Given the description of an element on the screen output the (x, y) to click on. 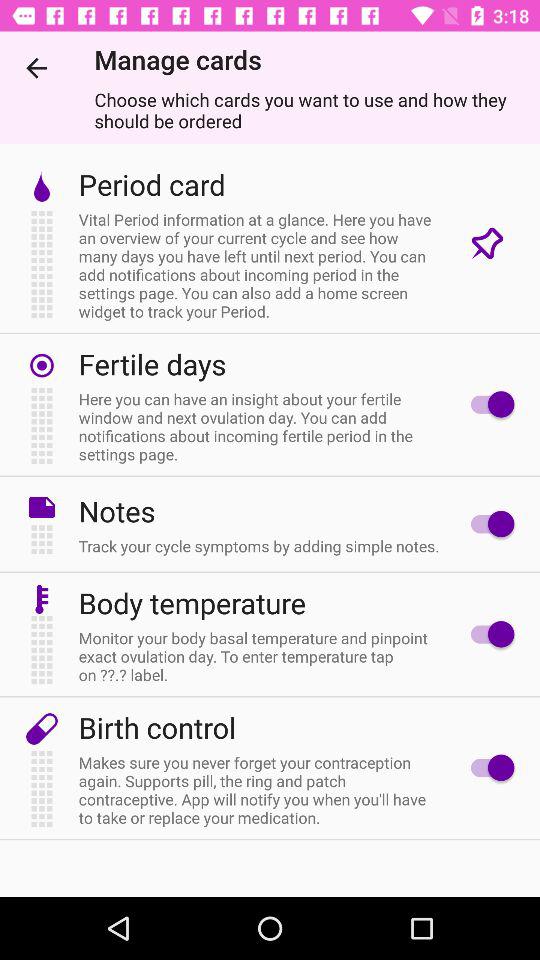
toggle the notes option (487, 523)
